Given the description of an element on the screen output the (x, y) to click on. 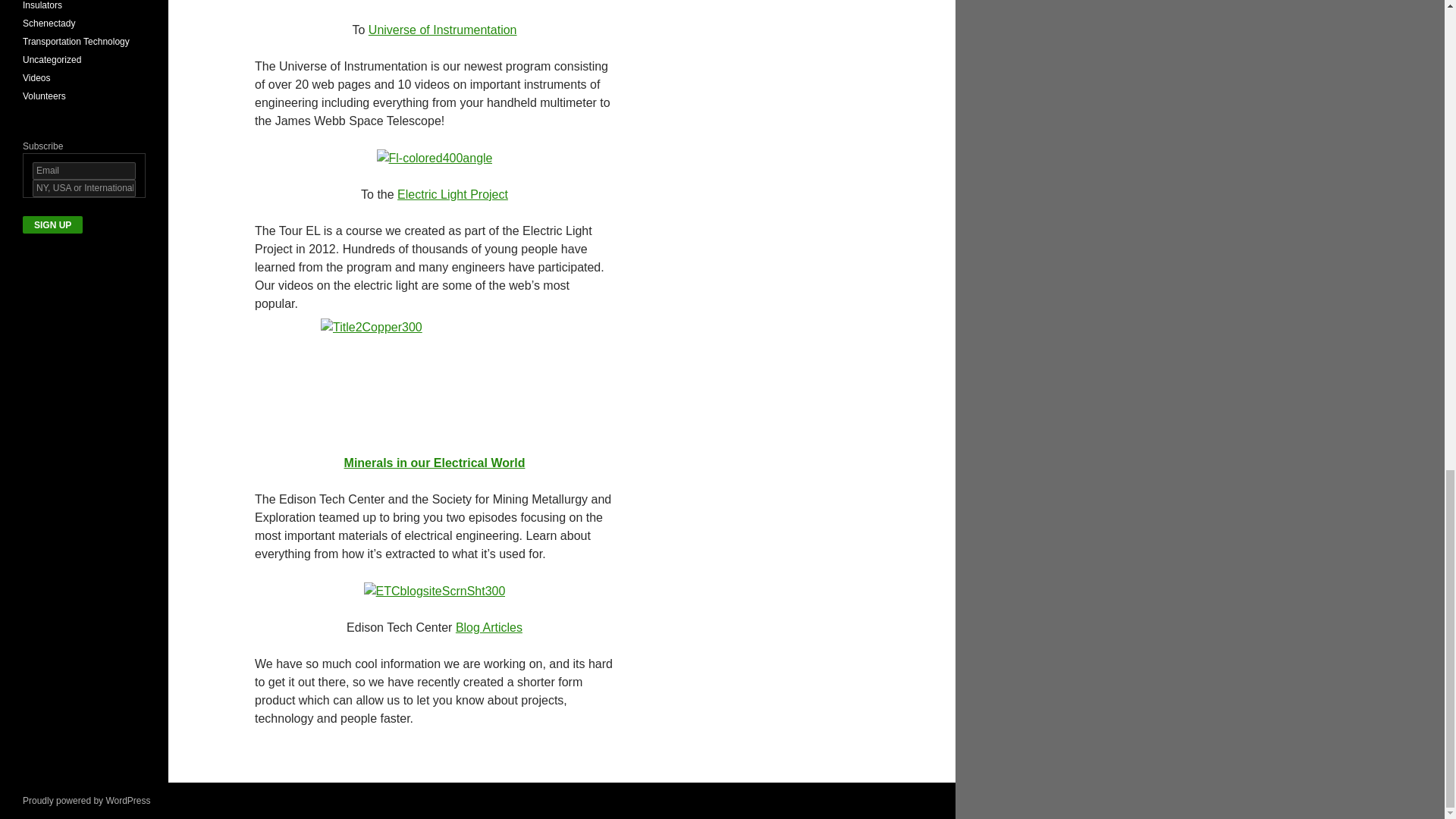
Minerals in our Electrical World (434, 462)
Blog Articles (488, 626)
Universe of Instrumentation (442, 29)
Electric Light Project (452, 194)
